Given the description of an element on the screen output the (x, y) to click on. 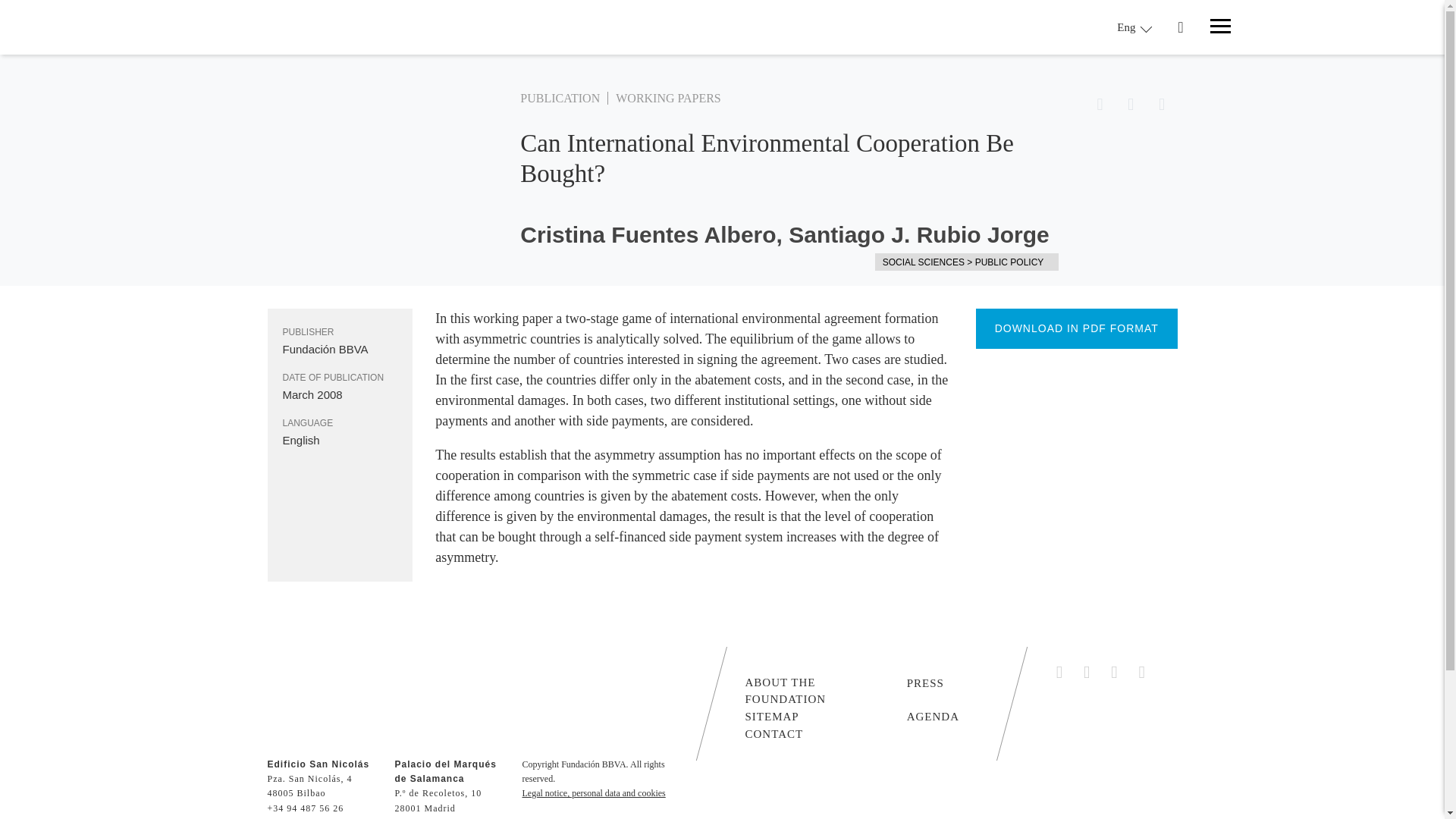
SITEMAP (770, 715)
AGENDA (933, 715)
CONTACT (773, 732)
Legal notice, personal data and cookies (593, 792)
ABOUT THE FOUNDATION (817, 689)
PRESS (925, 681)
Santiago J. Rubio Jorge (918, 234)
DOWNLOAD IN PDF FORMAT (1076, 328)
